Given the description of an element on the screen output the (x, y) to click on. 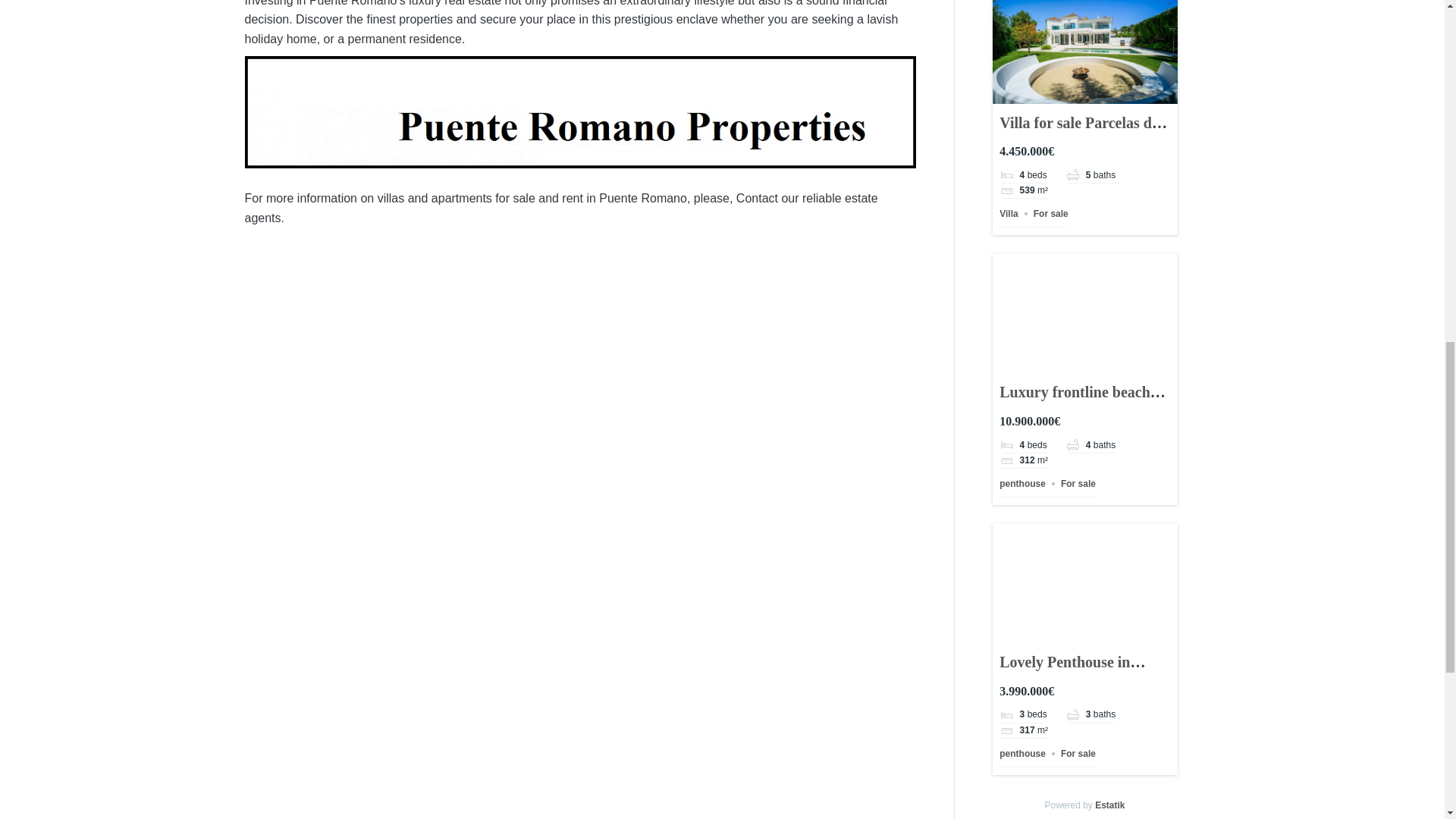
For sale (1078, 483)
penthouse (1021, 483)
For sale (1050, 213)
Villa (1007, 213)
Puente Romano Real Estate. (579, 112)
